Given the description of an element on the screen output the (x, y) to click on. 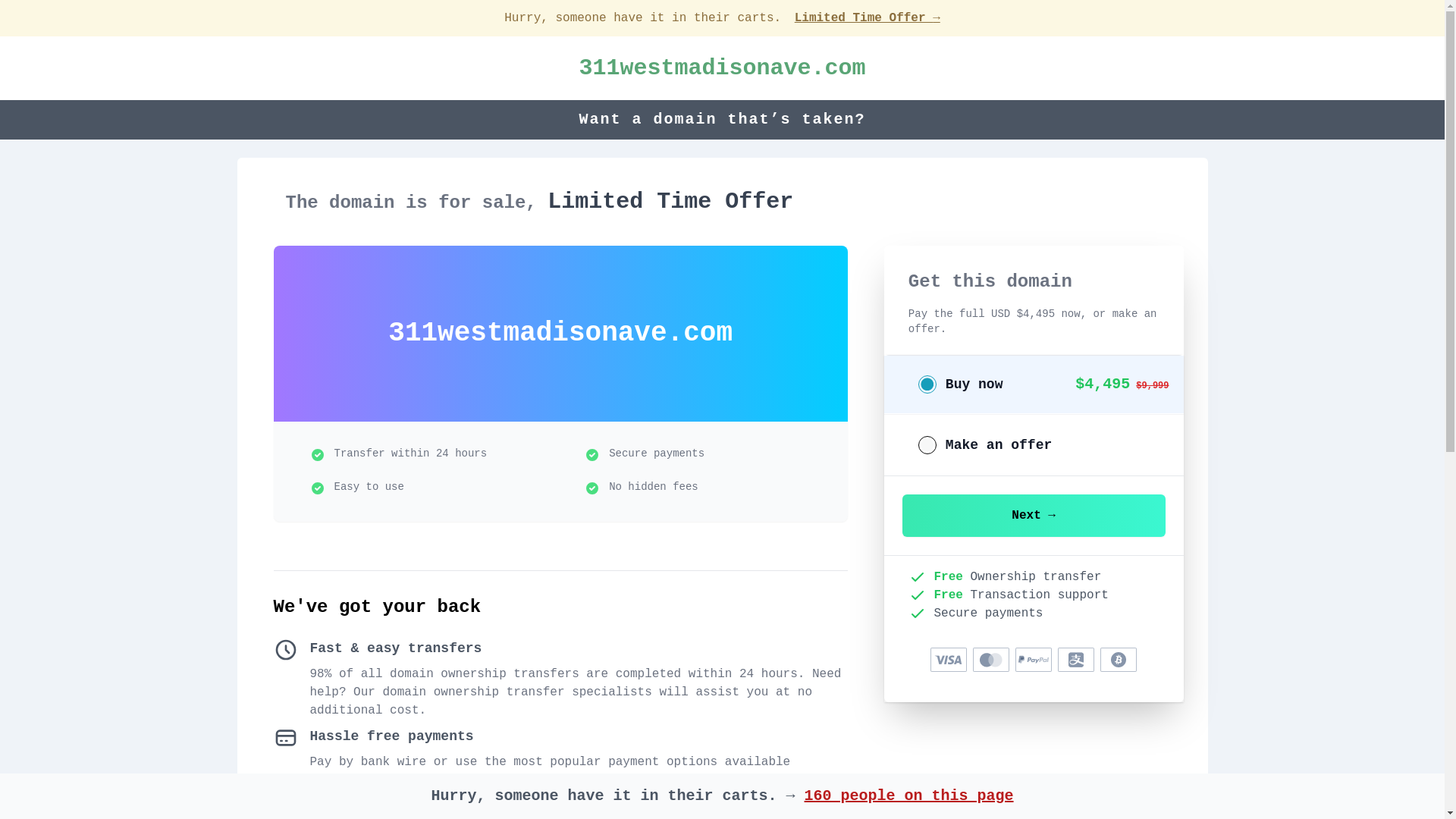
311westmadisonave.com Element type: text (721, 67)
311westmadisonave.com Element type: text (721, 68)
